Given the description of an element on the screen output the (x, y) to click on. 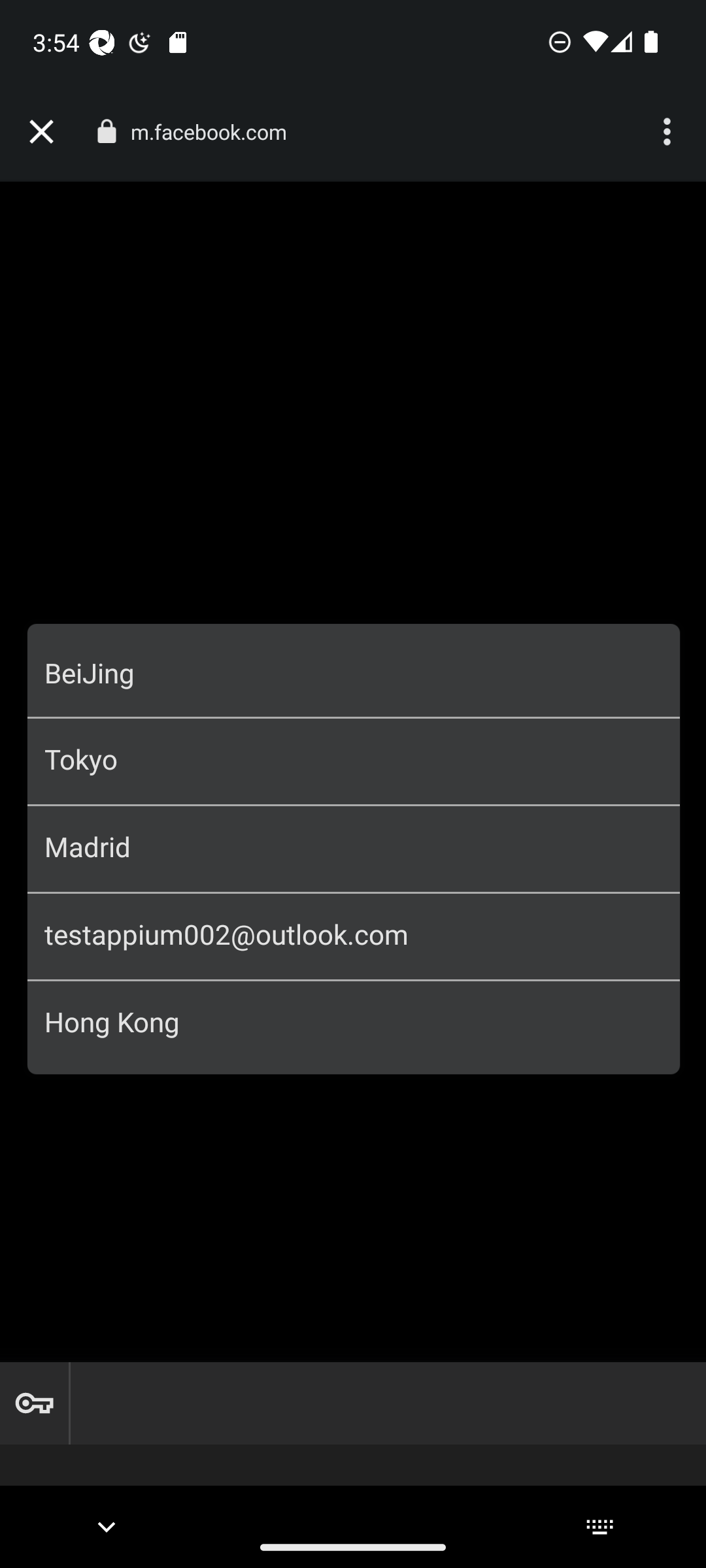
Close tab (41, 131)
More options (669, 131)
Connection is secure (106, 131)
m.facebook.com (215, 131)
Entrar (354, 754)
Show passwords (34, 1403)
